Given the description of an element on the screen output the (x, y) to click on. 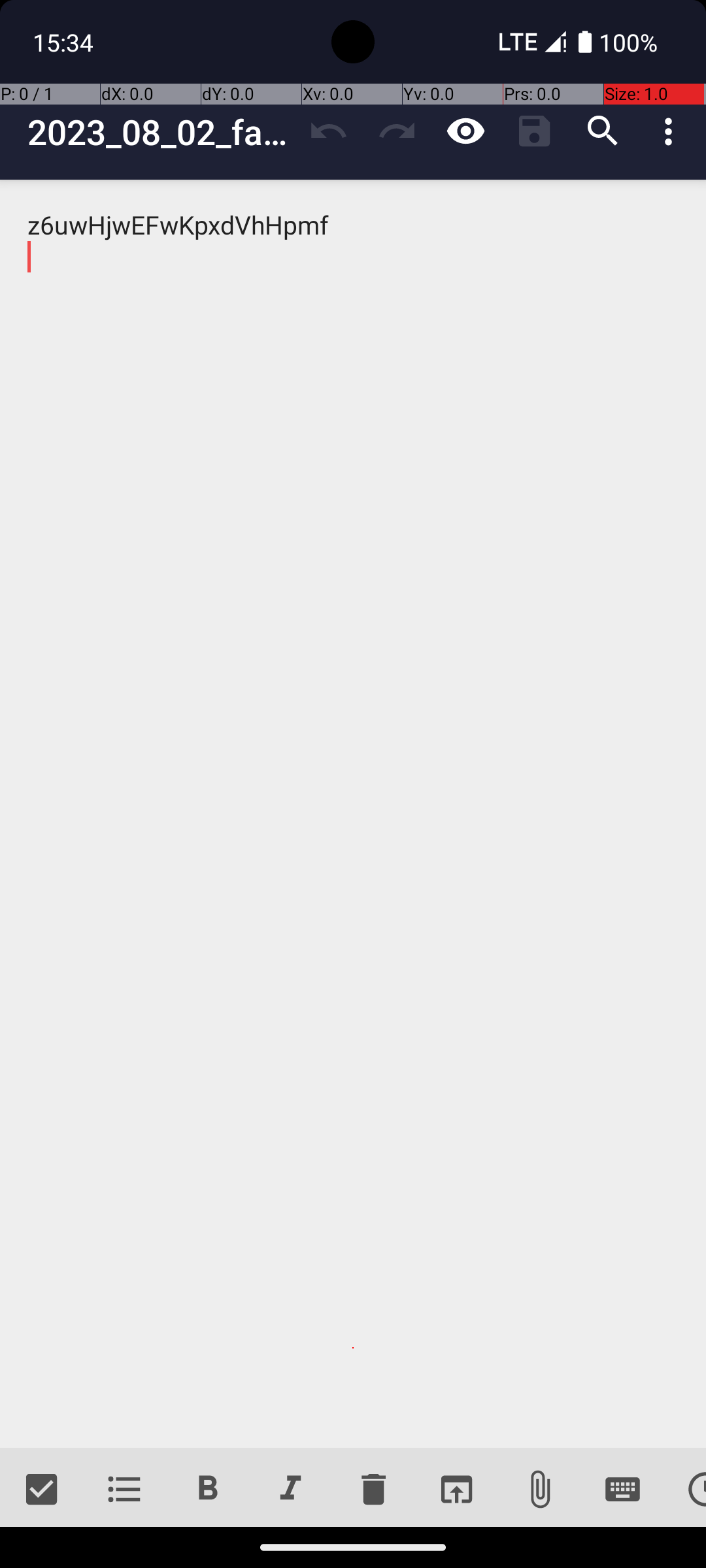
2023_08_02_favorite_book_quotes Element type: android.widget.TextView (160, 131)
z6uwHjwEFwKpxdVhHpmf
 Element type: android.widget.EditText (353, 813)
